Given the description of an element on the screen output the (x, y) to click on. 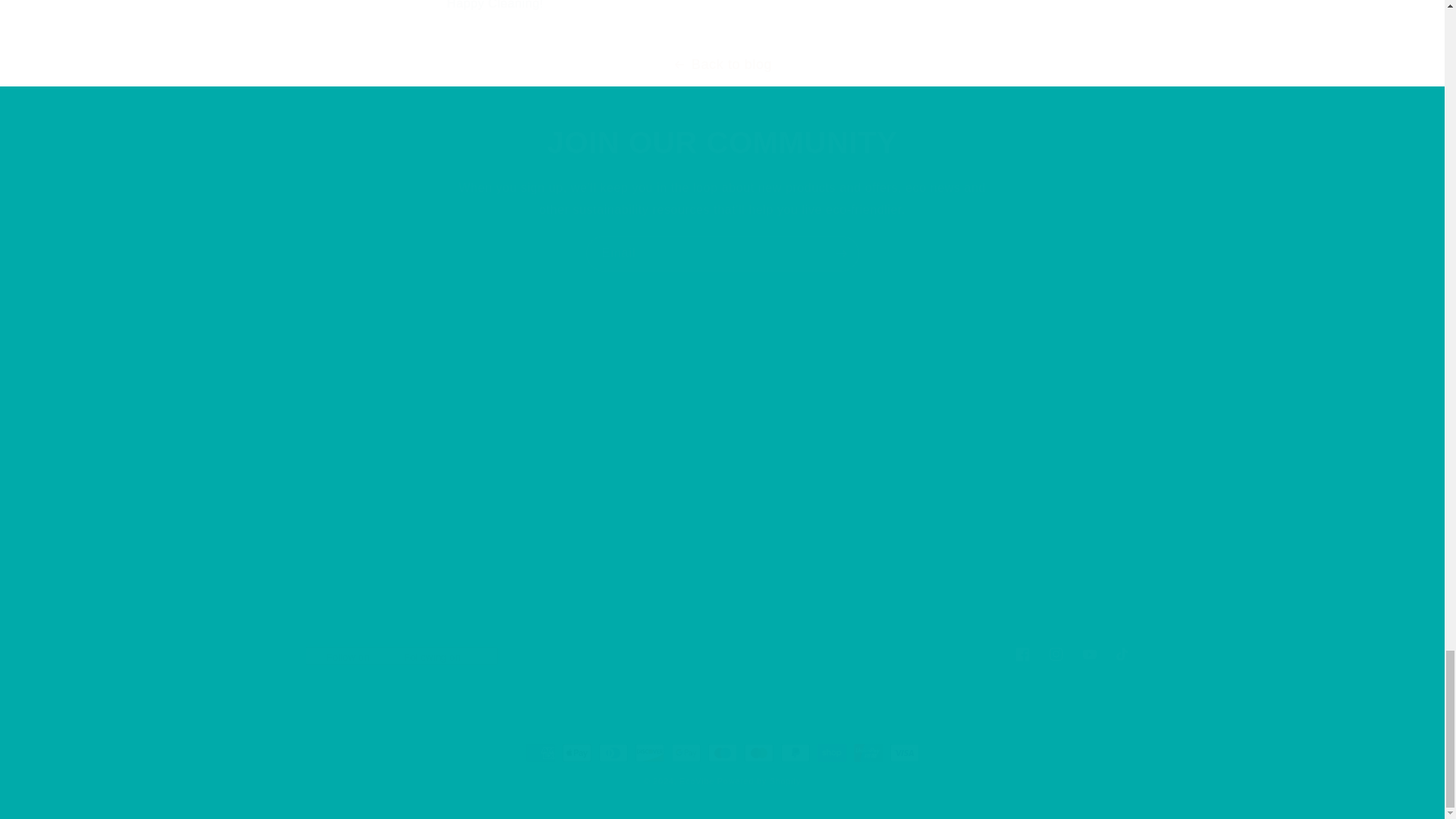
JOIN OUR COMMUNITY (721, 654)
Email (721, 142)
